Given the description of an element on the screen output the (x, y) to click on. 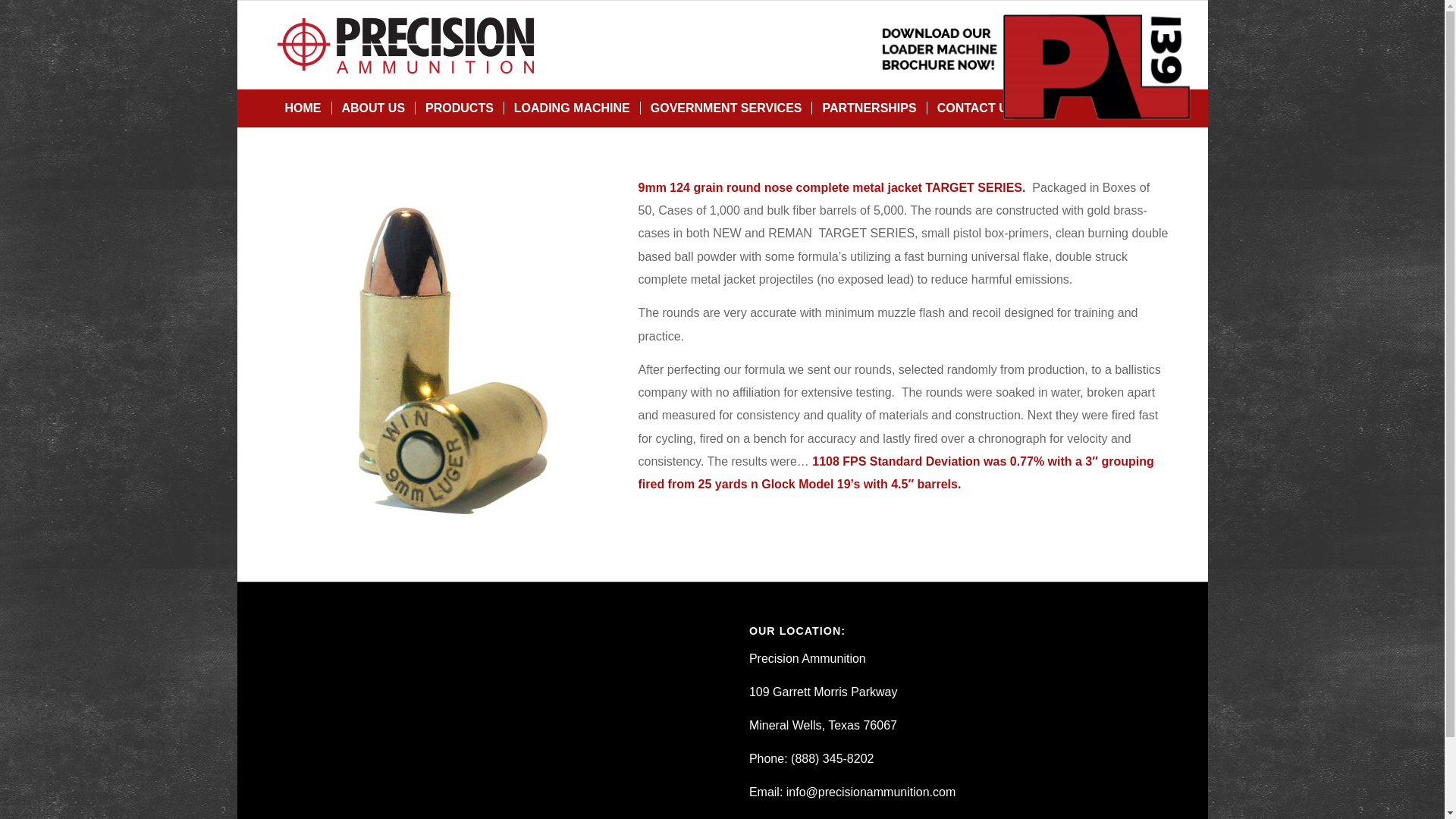
PRODUCTS (458, 108)
LOADING MACHINE (571, 108)
HOME (302, 108)
PARTNERSHIPS (868, 108)
GOVERNMENT SERVICES (726, 108)
ABOUT US (372, 108)
